Given the description of an element on the screen output the (x, y) to click on. 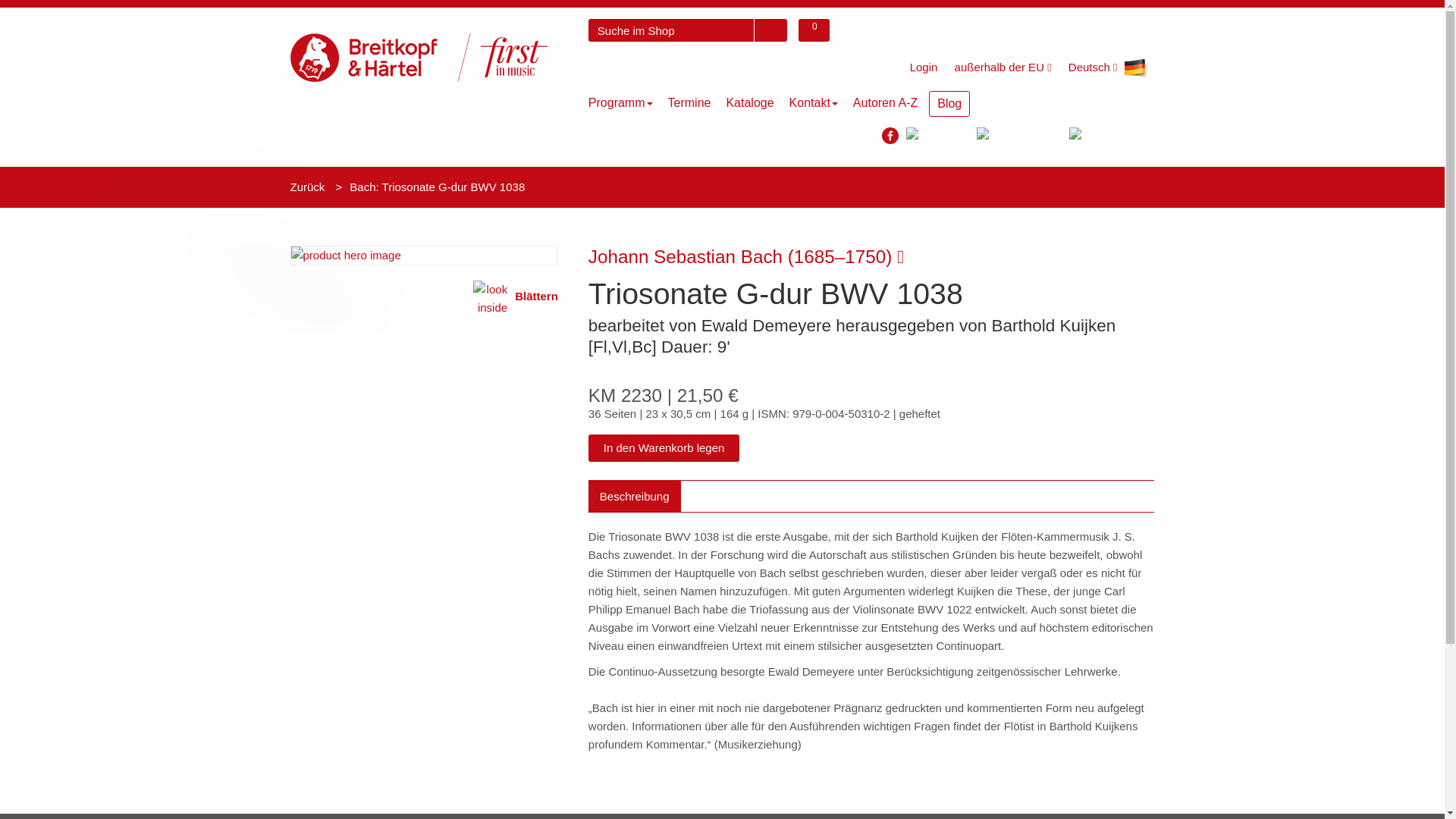
Login (923, 67)
Deutsch (1107, 68)
In den Warenkorb legen (663, 447)
0 (813, 29)
